Given the description of an element on the screen output the (x, y) to click on. 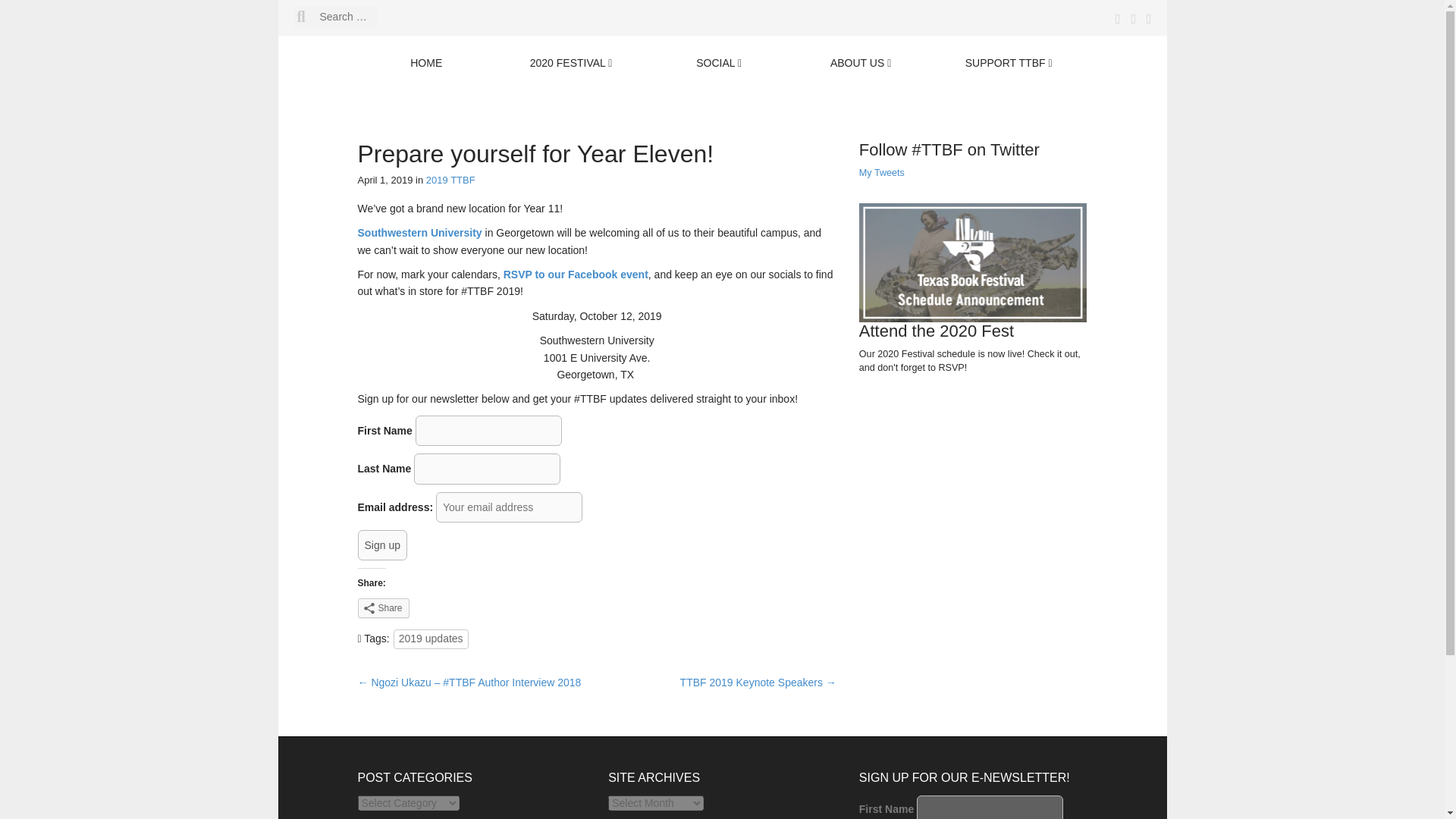
Sign up (382, 544)
2019 TTBF (451, 179)
SOCIAL (718, 63)
ABOUT US (860, 63)
Share (383, 608)
Texas Teen Book Festival (615, 90)
Sign up (382, 544)
April 1, 2019 (385, 179)
Texas Teen Book Festival (615, 90)
Southwestern University (419, 232)
SUPPORT TTBF (1008, 63)
Instagram (1144, 19)
2019 updates (430, 639)
2020 FESTIVAL (571, 63)
